Given the description of an element on the screen output the (x, y) to click on. 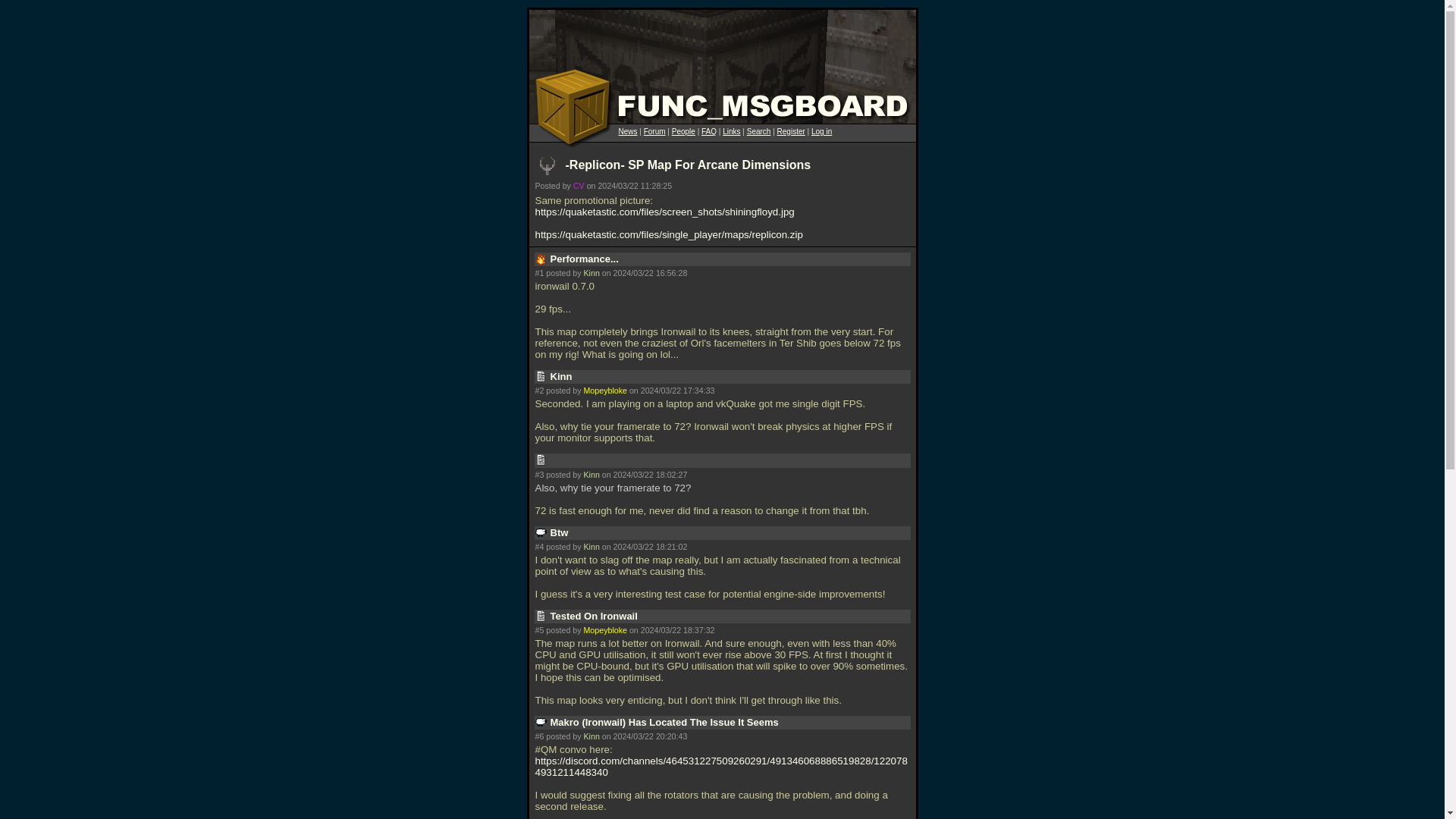
Kinn (590, 272)
Mopeybloke (604, 389)
Links (730, 131)
News (627, 131)
CV (579, 185)
People (683, 131)
Log in (820, 131)
Kinn (590, 546)
-Replicon- SP Map For Arcane Dimensions (688, 164)
Kinn (590, 736)
Register (791, 131)
Mopeybloke (604, 629)
Forum (654, 131)
Kinn (590, 474)
FAQ (708, 131)
